Given the description of an element on the screen output the (x, y) to click on. 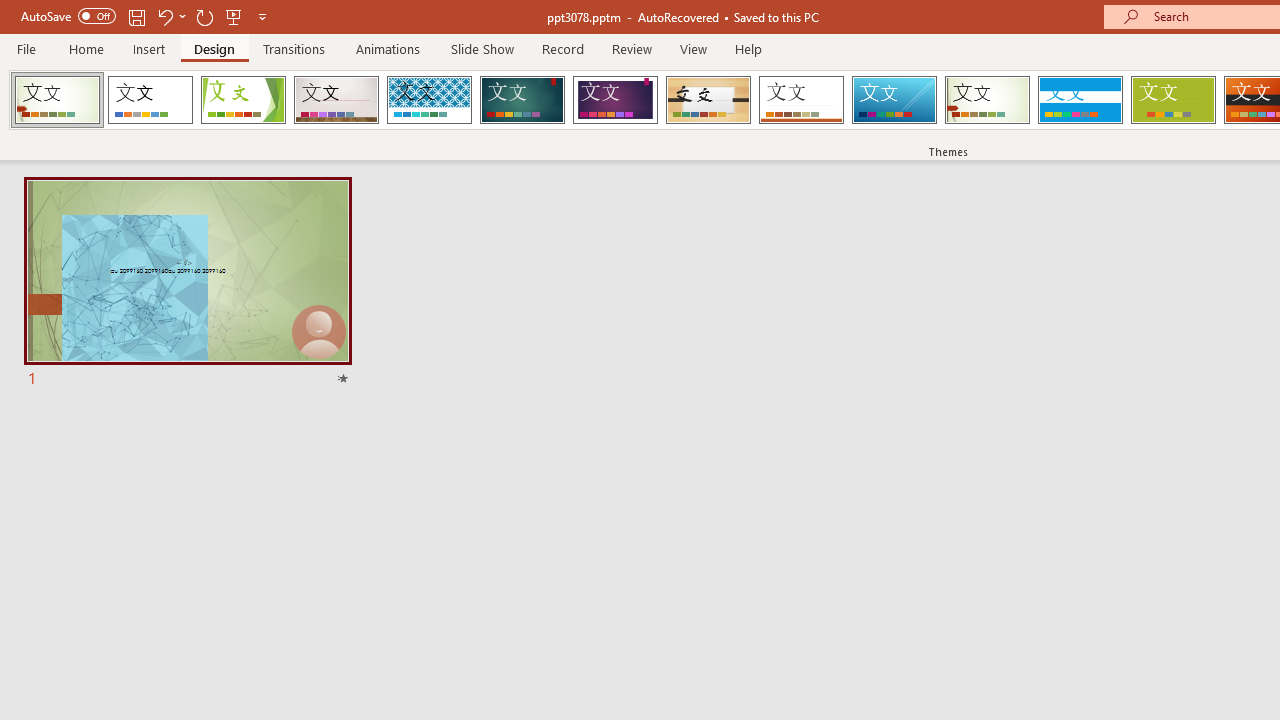
Integral (429, 100)
Ion (522, 100)
Retrospect (801, 100)
Office Theme (150, 100)
Organic (708, 100)
Facet (243, 100)
